Given the description of an element on the screen output the (x, y) to click on. 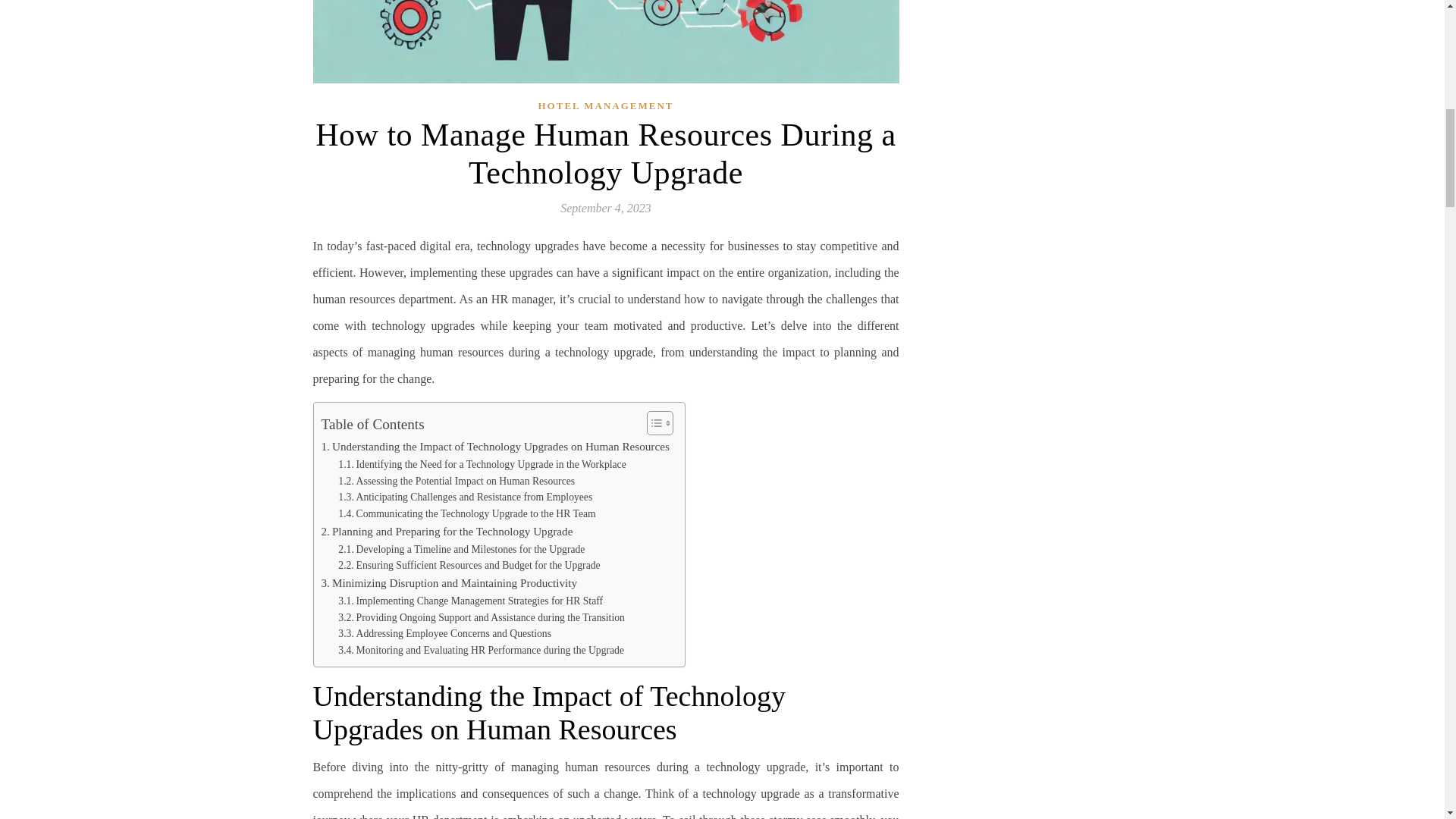
Addressing Employee Concerns and Questions (444, 633)
HOTEL MANAGEMENT (606, 105)
Assessing the Potential Impact on Human Resources (456, 481)
Ensuring Sufficient Resources and Budget for the Upgrade (468, 565)
Implementing Change Management Strategies for HR Staff (469, 600)
Monitoring and Evaluating HR Performance during the Upgrade (480, 650)
Anticipating Challenges and Resistance from Employees (464, 497)
Minimizing Disruption and Maintaining Productivity (449, 583)
